Given the description of an element on the screen output the (x, y) to click on. 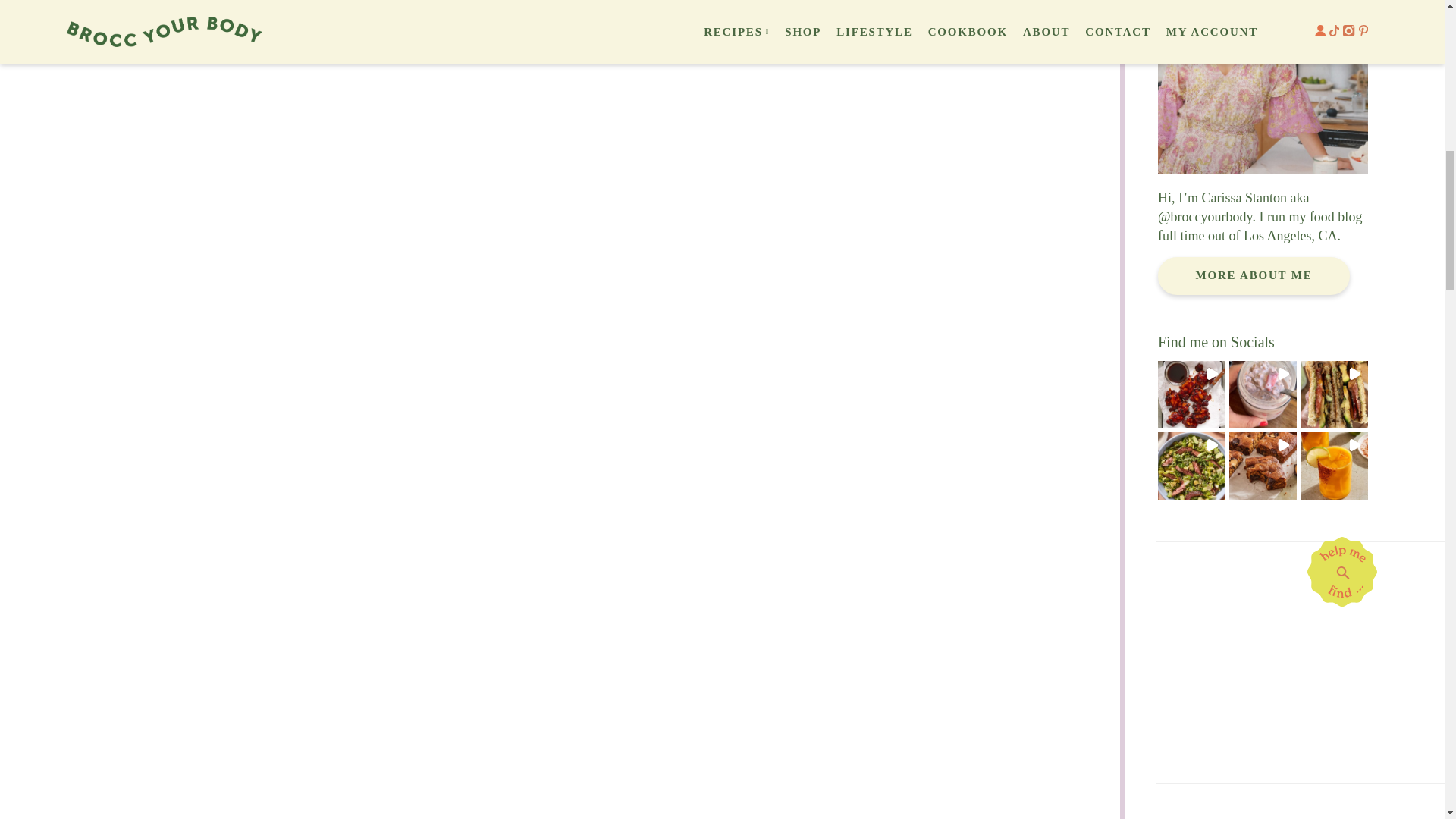
broccyourbody (1211, 216)
MORE ABOUT ME (1253, 275)
